Given the description of an element on the screen output the (x, y) to click on. 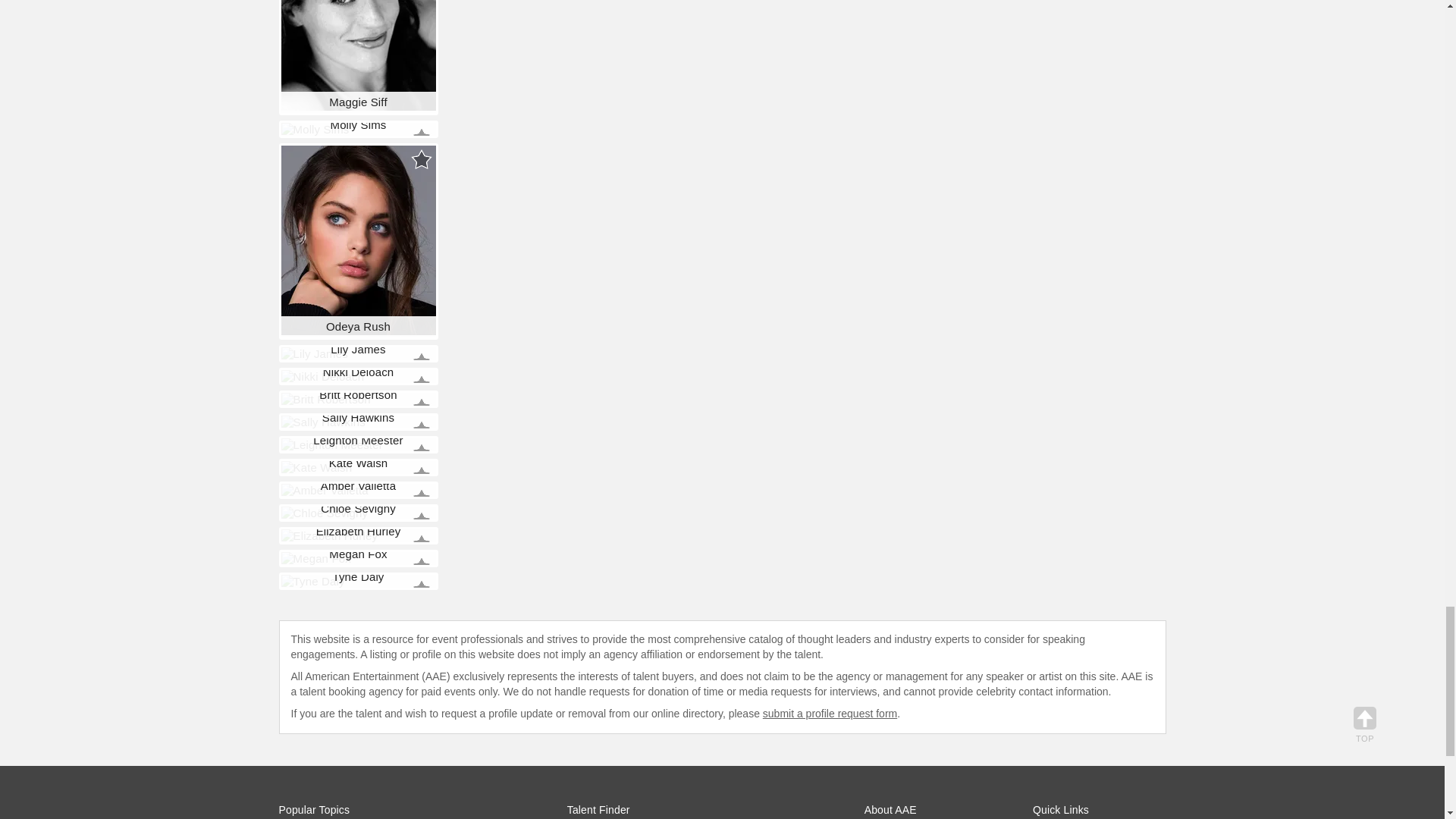
Molly Sims (315, 128)
Maggie Siff (358, 55)
Lily James (314, 353)
